Given the description of an element on the screen output the (x, y) to click on. 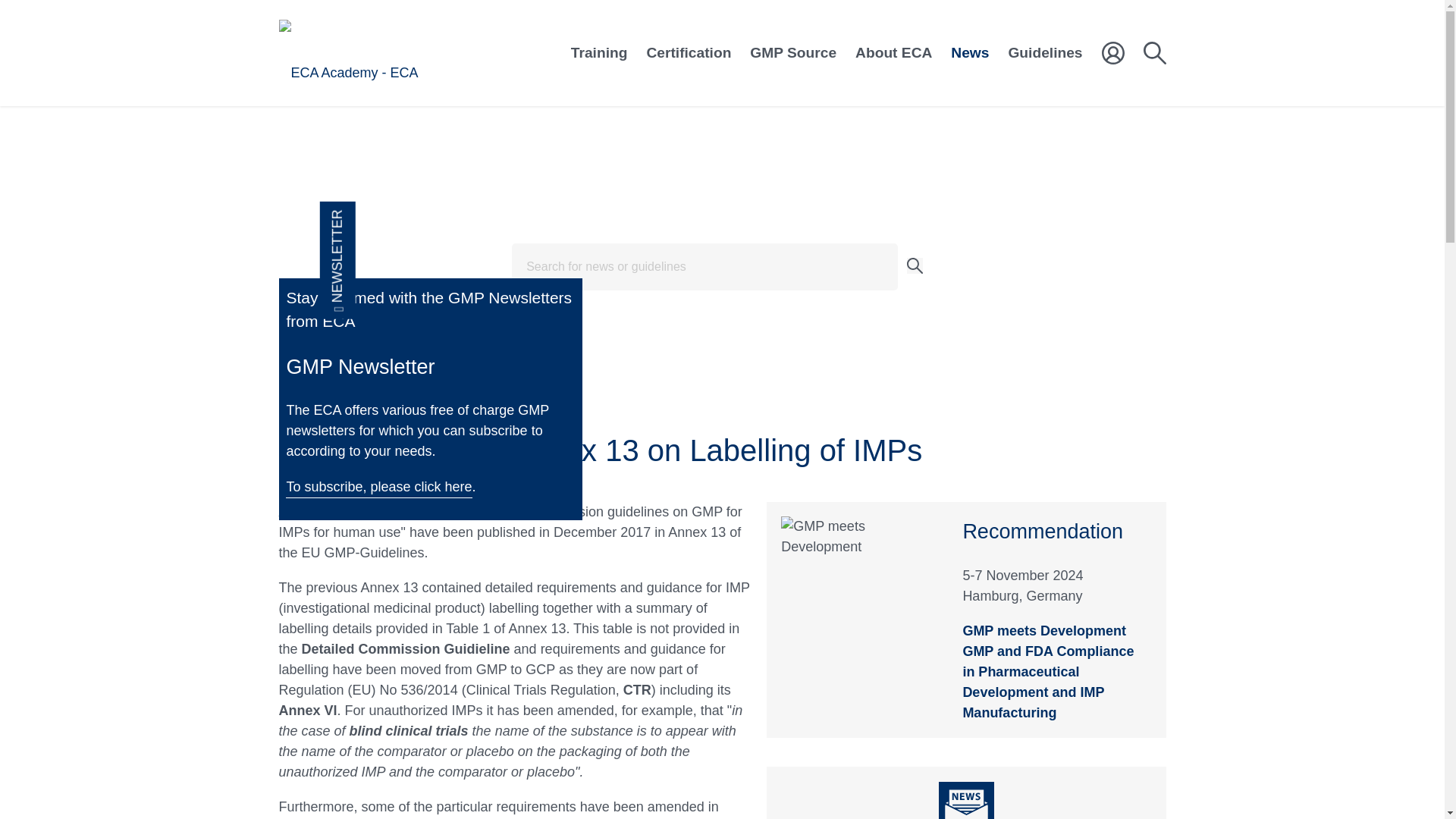
ECA Academy - ECA Academy (373, 53)
